Given the description of an element on the screen output the (x, y) to click on. 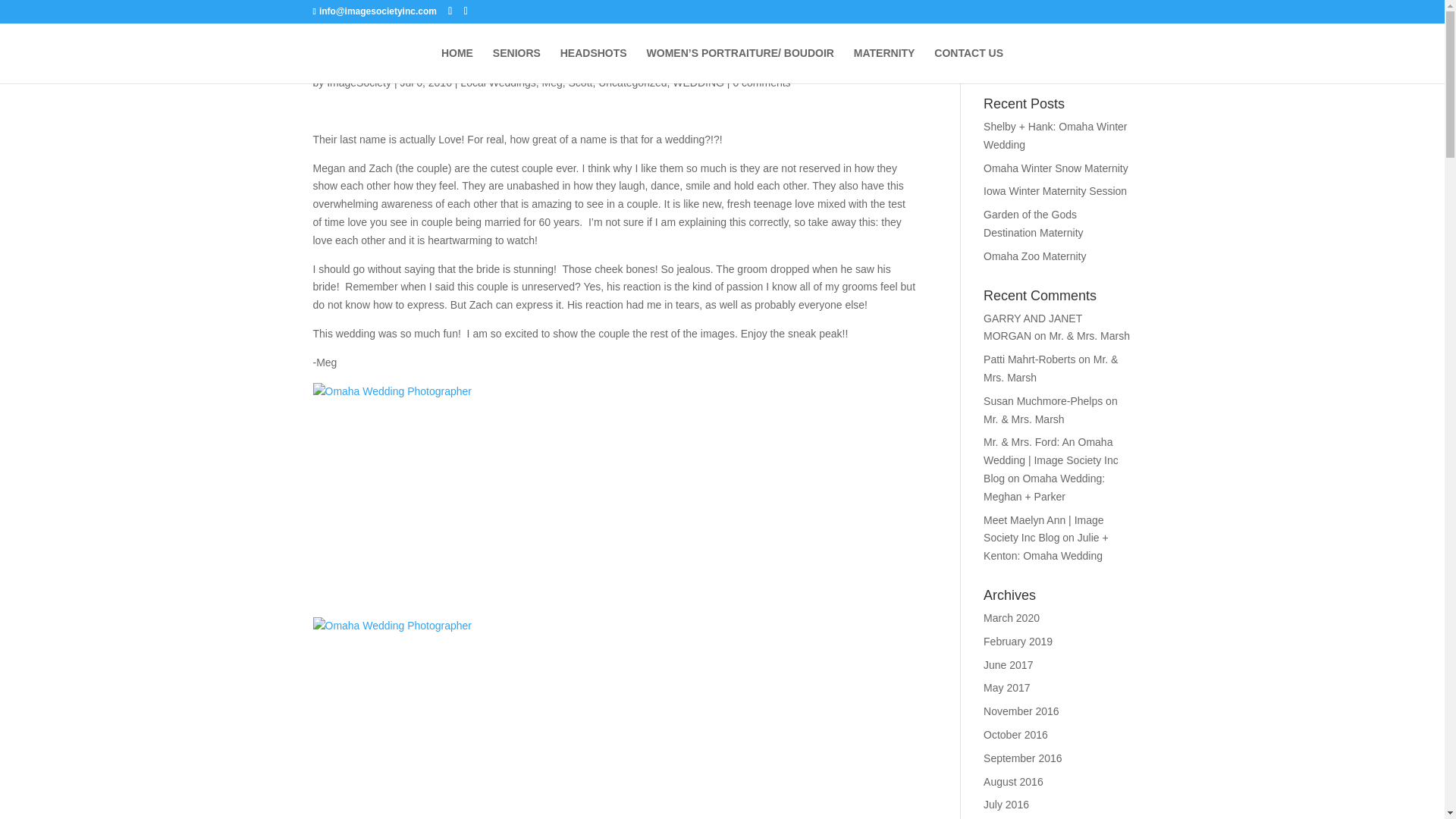
Search (1106, 59)
Garden of the Gods Destination Maternity (1033, 223)
Local Weddings (497, 82)
WEDDING (697, 82)
Omaha Zoo Maternity (1035, 256)
CONTACT US (968, 65)
Meg (551, 82)
MATERNITY (884, 65)
ImageSociety (358, 82)
Omaha Winter Snow Maternity (1056, 168)
